Given the description of an element on the screen output the (x, y) to click on. 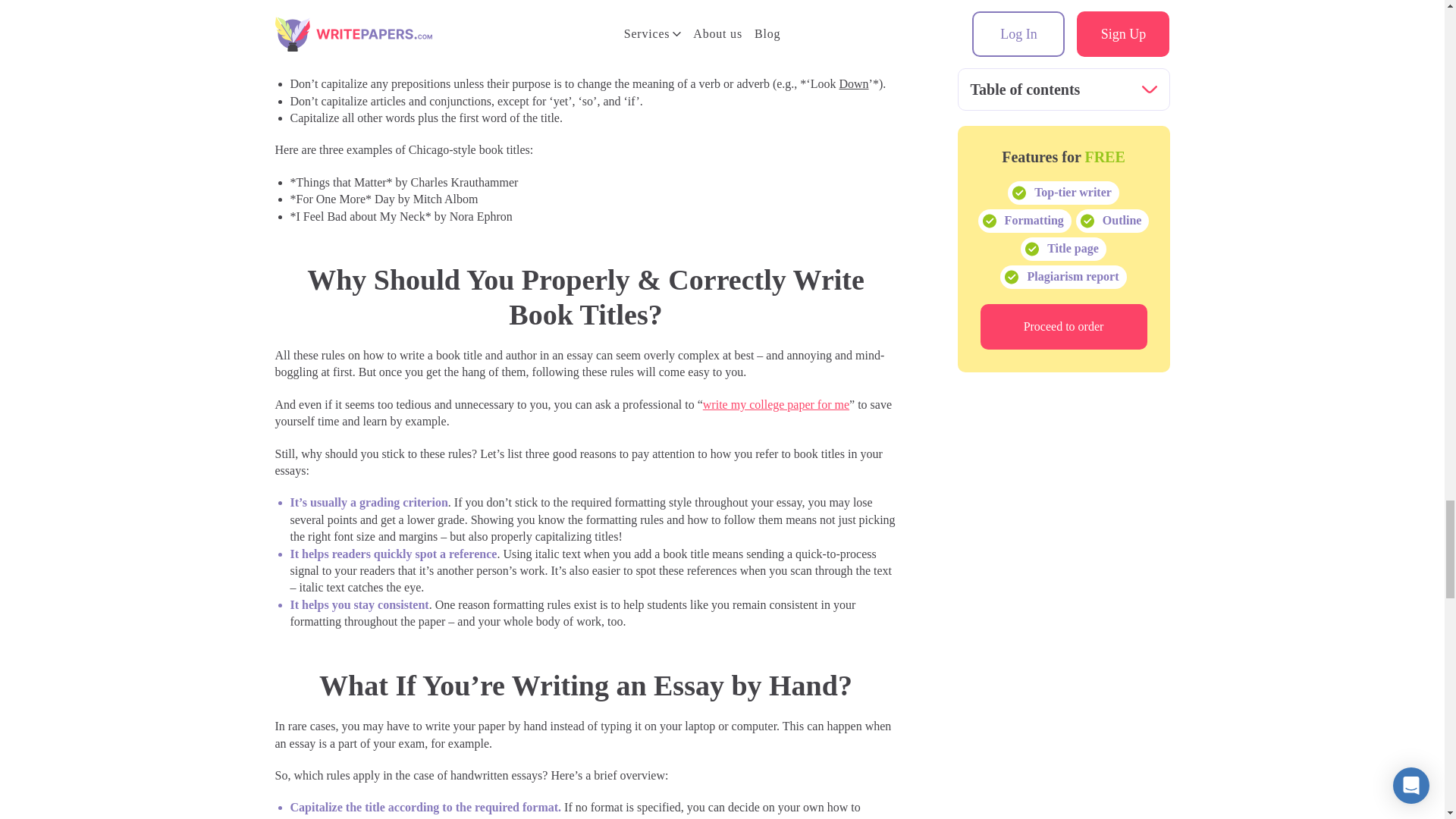
write my college paper for me (775, 404)
